Given the description of an element on the screen output the (x, y) to click on. 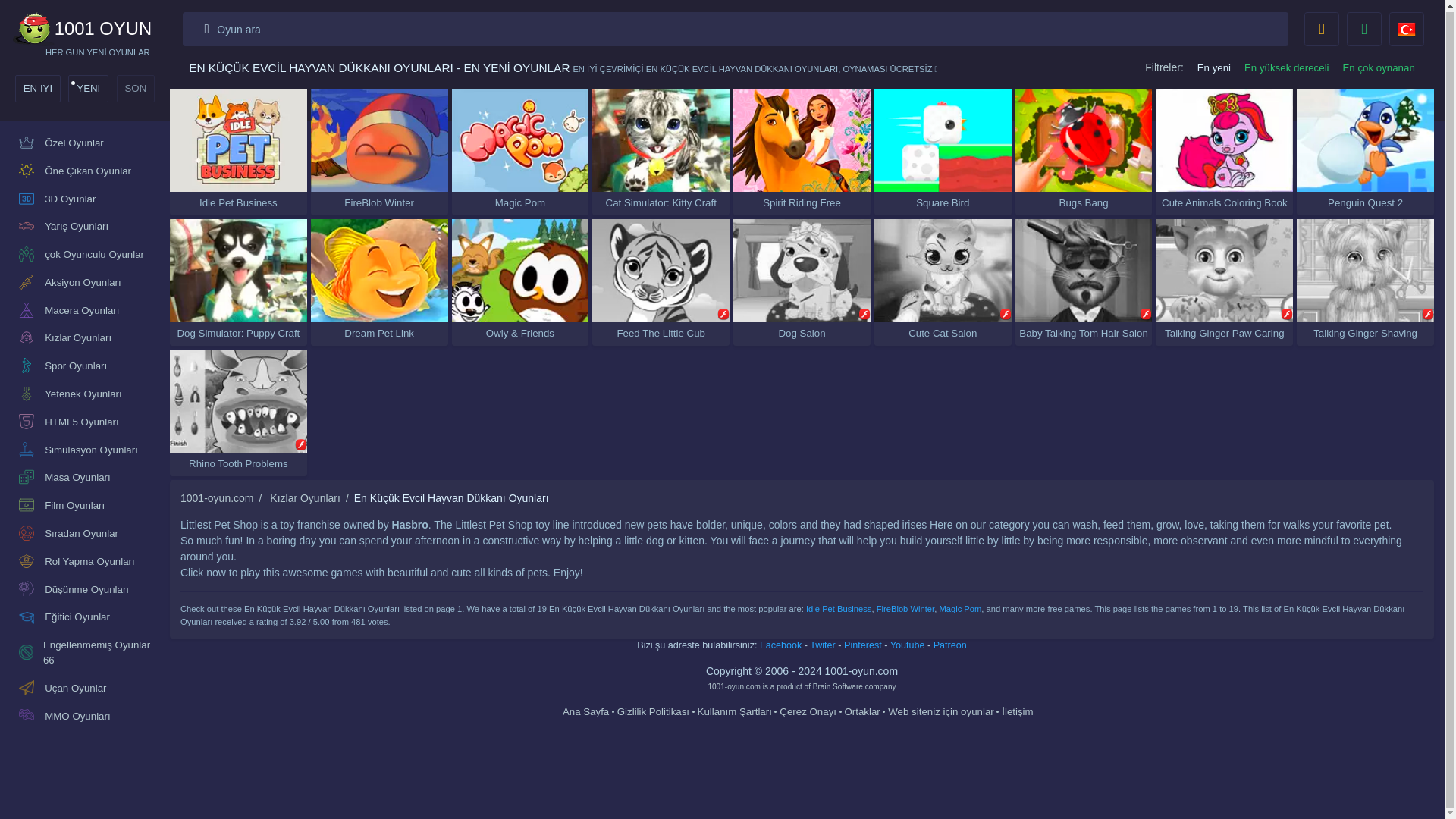
SON (135, 88)
1001 OYUN (98, 28)
Yeni Oyunlar (87, 88)
3D Oyunlar (85, 198)
EN IYI (37, 88)
3D Oyunlar (85, 198)
YENI (87, 88)
